Given the description of an element on the screen output the (x, y) to click on. 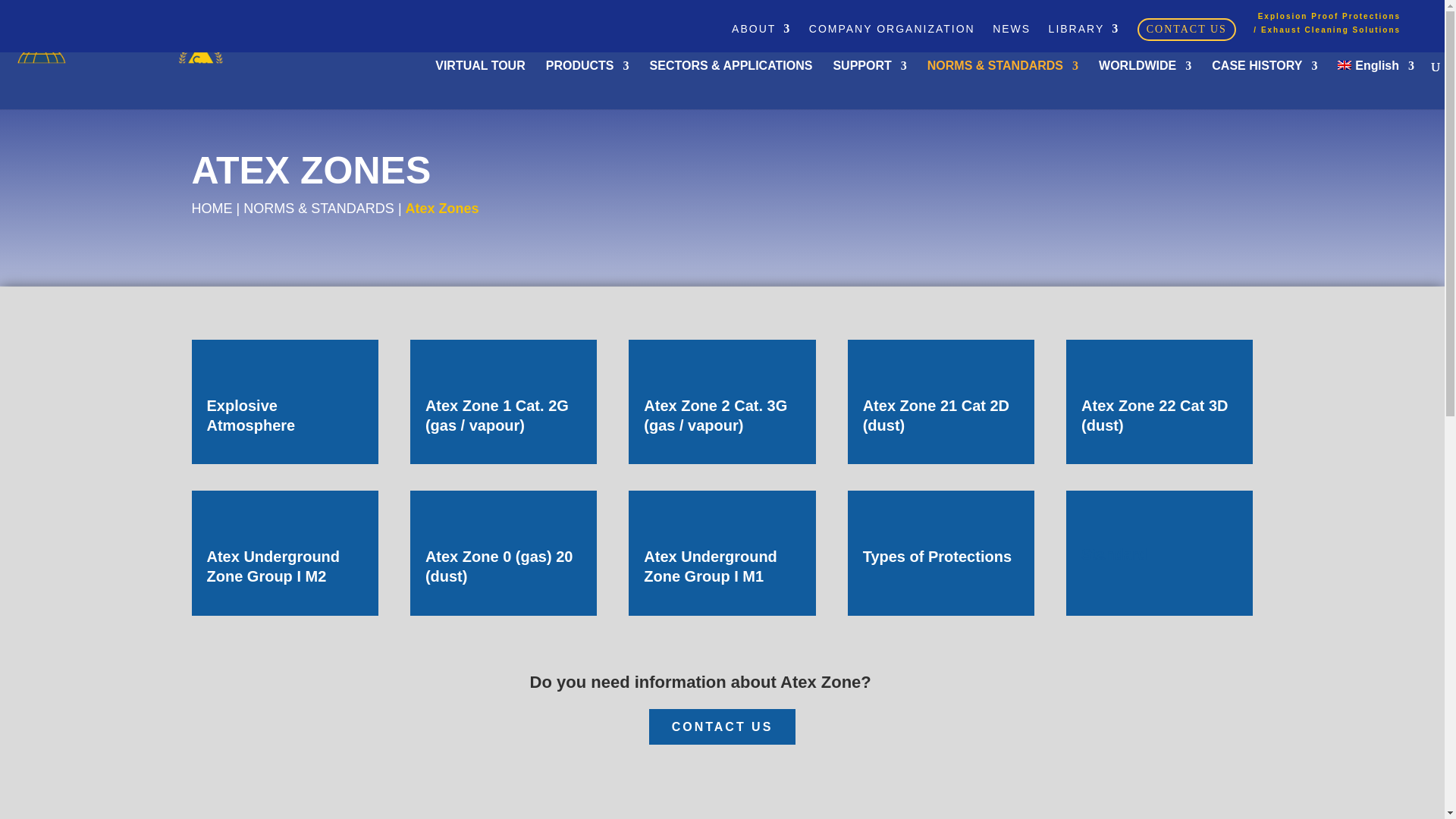
SUPPORT (868, 84)
NEWS (1011, 32)
PRODUCTS (587, 84)
English (1344, 64)
COMPANY ORGANIZATION (892, 32)
VIRTUAL TOUR (480, 84)
CONTACT US (1186, 33)
WORLDWIDE (1145, 84)
English (1375, 84)
LIBRARY (1083, 32)
